Given the description of an element on the screen output the (x, y) to click on. 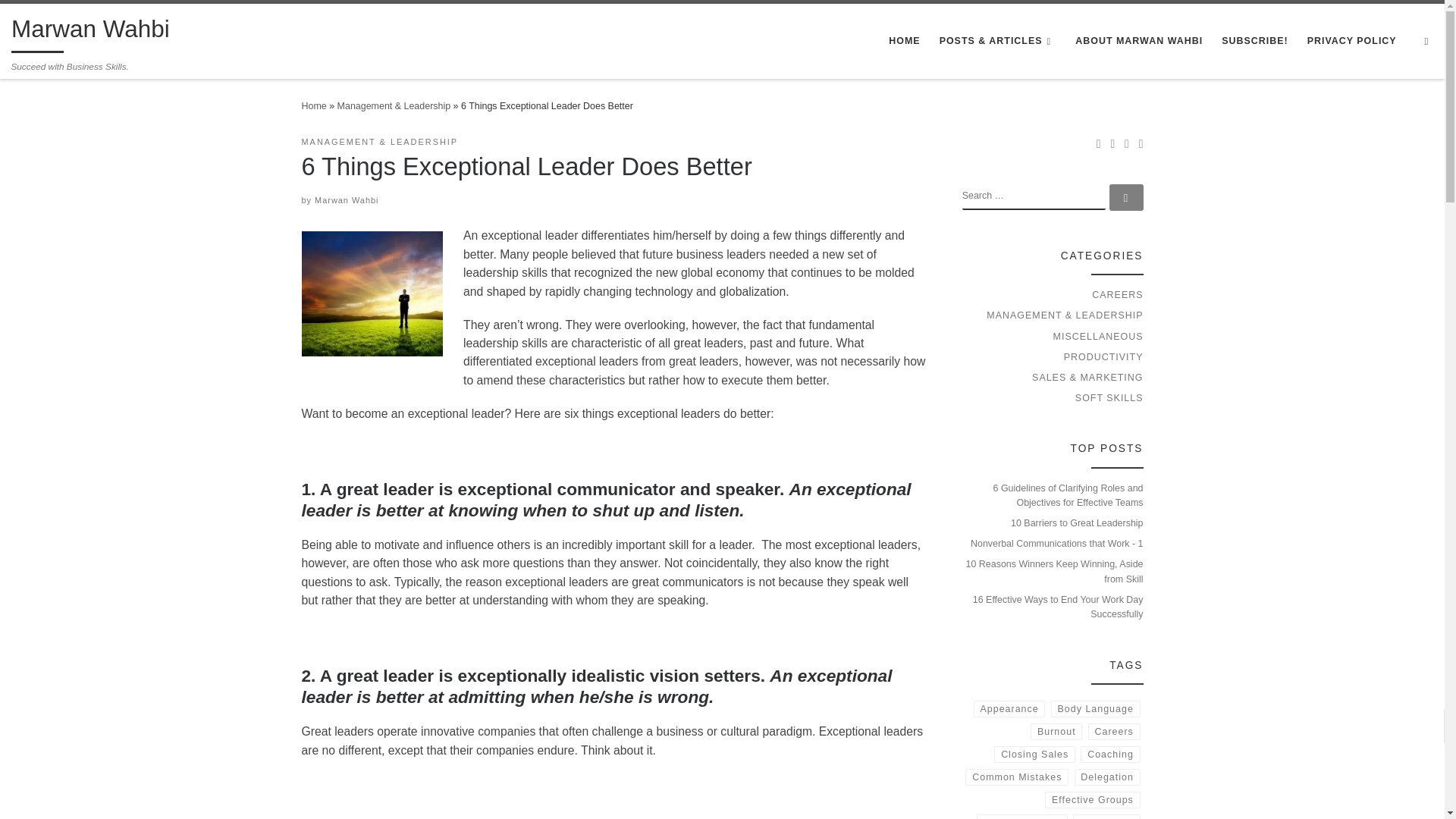
PRIVACY POLICY (1350, 41)
HOME (903, 41)
ABOUT MARWAN WAHBI (1138, 41)
Marwan Wahbi (90, 32)
View all posts by Marwan Wahbi (346, 199)
Skip to content (56, 19)
Marwan Wahbi (346, 199)
Home (313, 105)
SUBSCRIBE! (1254, 41)
Marwan Wahbi (313, 105)
